Given the description of an element on the screen output the (x, y) to click on. 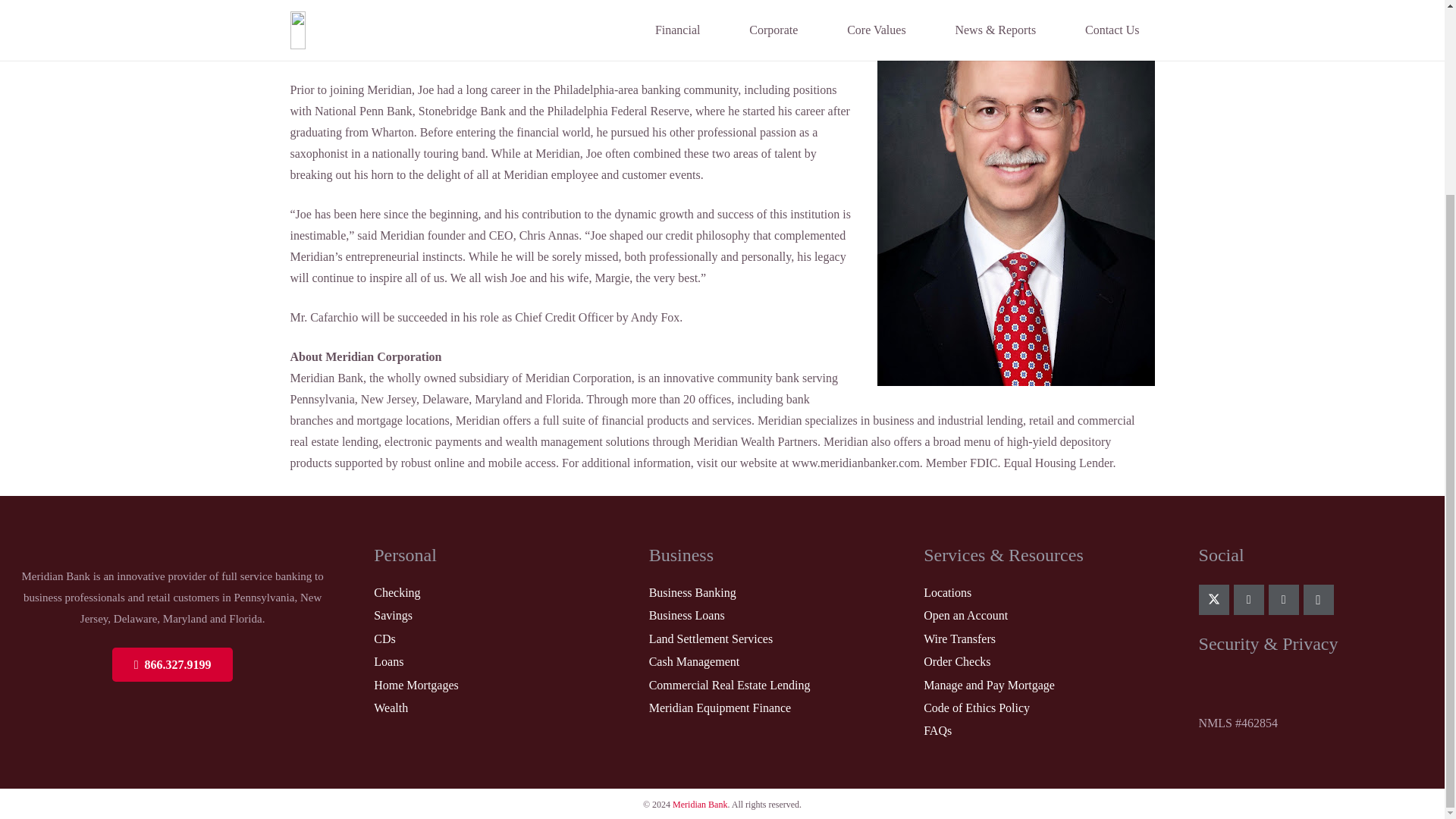
Instagram (1318, 599)
Savings (393, 615)
Loans (388, 661)
Personal (405, 555)
Land Settlement Services (711, 638)
CDs (384, 638)
FAQs (937, 730)
Home Mortgages (416, 684)
Business Banking (692, 592)
LinkedIn (1248, 599)
Facebook (1283, 599)
Manage and Pay Mortgage (988, 684)
Wire Transfers (959, 638)
Twitter (1213, 599)
Commercial Real Estate Lending (729, 684)
